Given the description of an element on the screen output the (x, y) to click on. 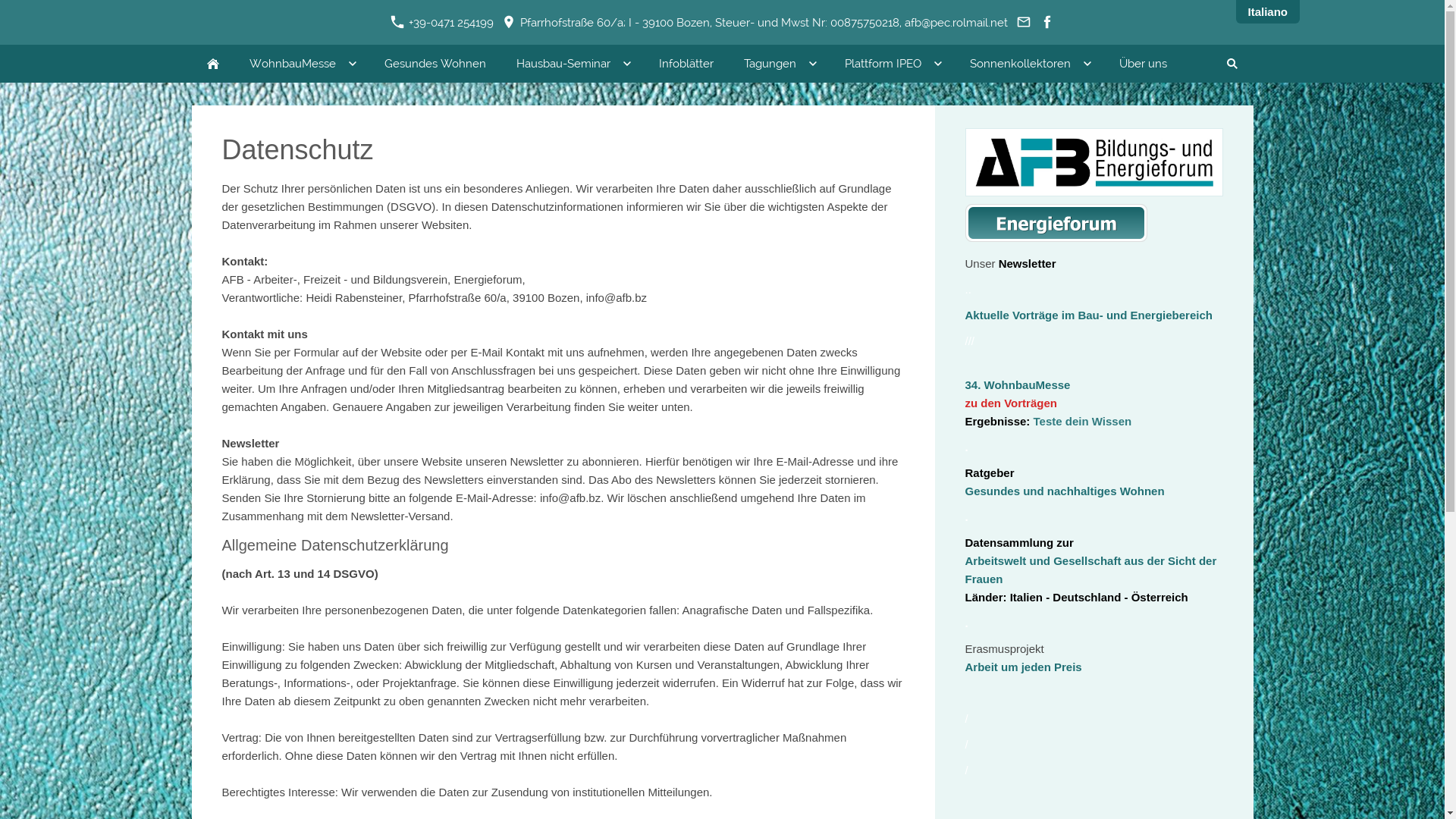
Plattform IPEO Element type: text (891, 63)
Unsere Facebook-Seite besuchen Element type: hover (1046, 22)
Teste dein Wissen Element type: text (1082, 420)
Gesundes und nachhaltiges Wohnen Element type: text (1064, 490)
Sonnenkollektoren Element type: text (1028, 63)
Gesundes Wohnen Element type: text (434, 63)
Newsletter Element type: text (1027, 263)
 +39-0471 254199 Element type: text (441, 22)
Senden Sie uns eine E-Mail-Nachricht Element type: hover (1023, 22)
WohnbauMesse Element type: text (300, 63)
Arbeitswelt und Gesellschaft aus der Sicht der Frauen Element type: text (1090, 569)
Hausbau-Seminar Element type: text (571, 63)
Tagungen Element type: text (778, 63)
Arbeit um jeden Preis Element type: text (1022, 666)
34. WohnbauMesse Element type: text (1017, 384)
